Given the description of an element on the screen output the (x, y) to click on. 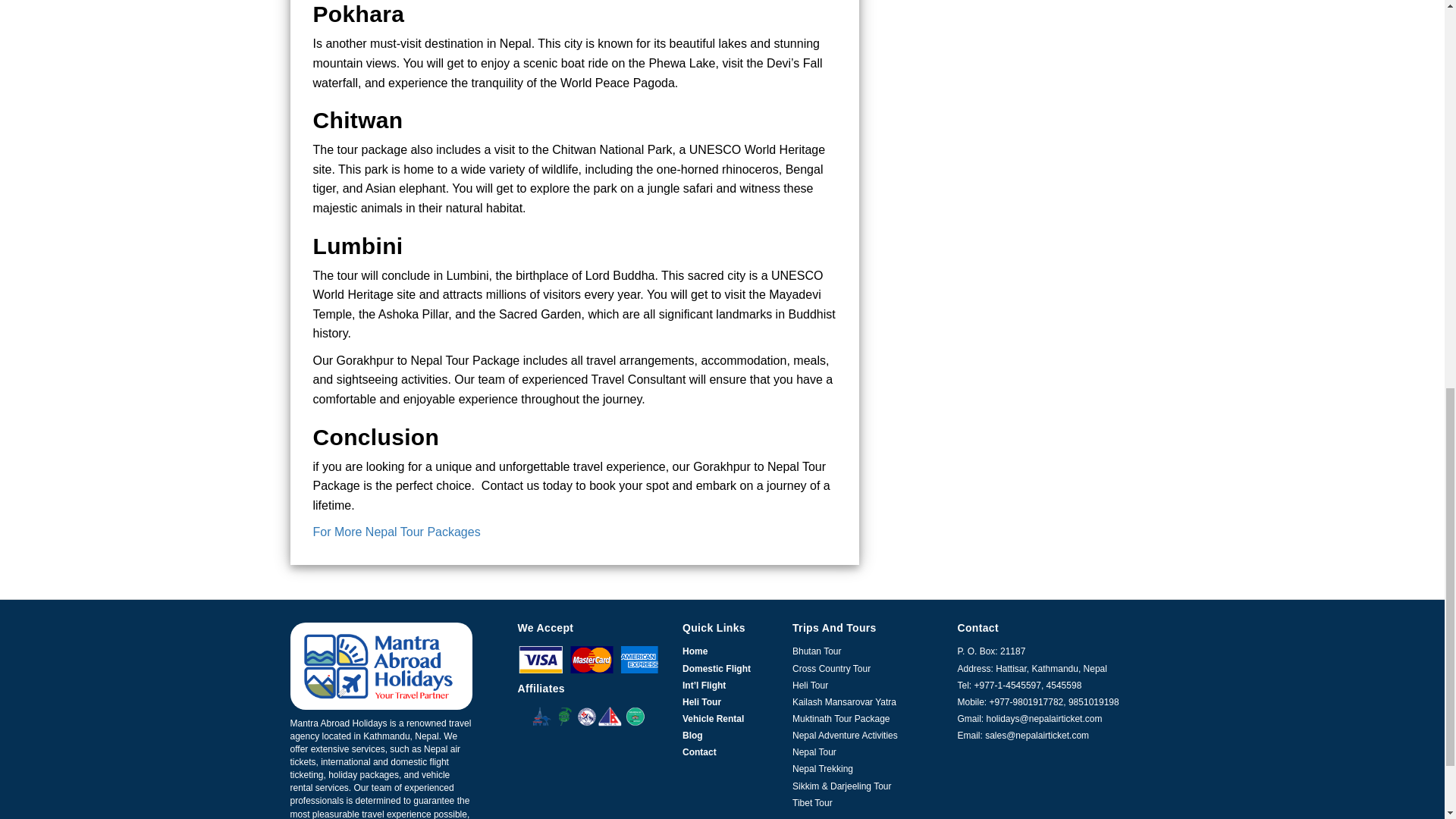
For More Nepal Tour Packages  (398, 531)
